Given the description of an element on the screen output the (x, y) to click on. 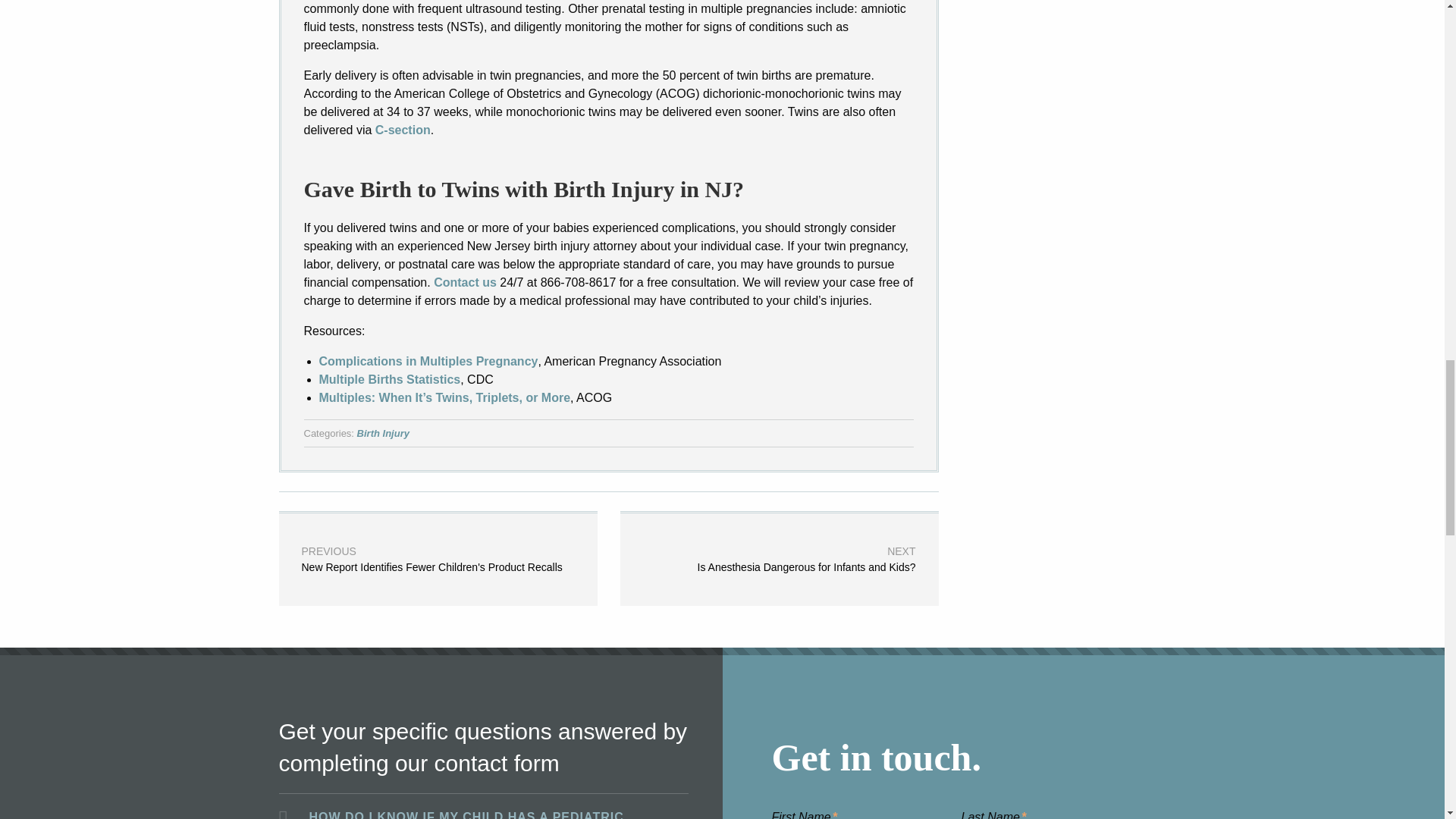
Multiple Births Statistics (389, 379)
Birth Injury (382, 433)
Complications in Multiples Pregnancy (779, 558)
C-section (427, 360)
Birth Injury (402, 129)
Contact us (382, 433)
